Given the description of an element on the screen output the (x, y) to click on. 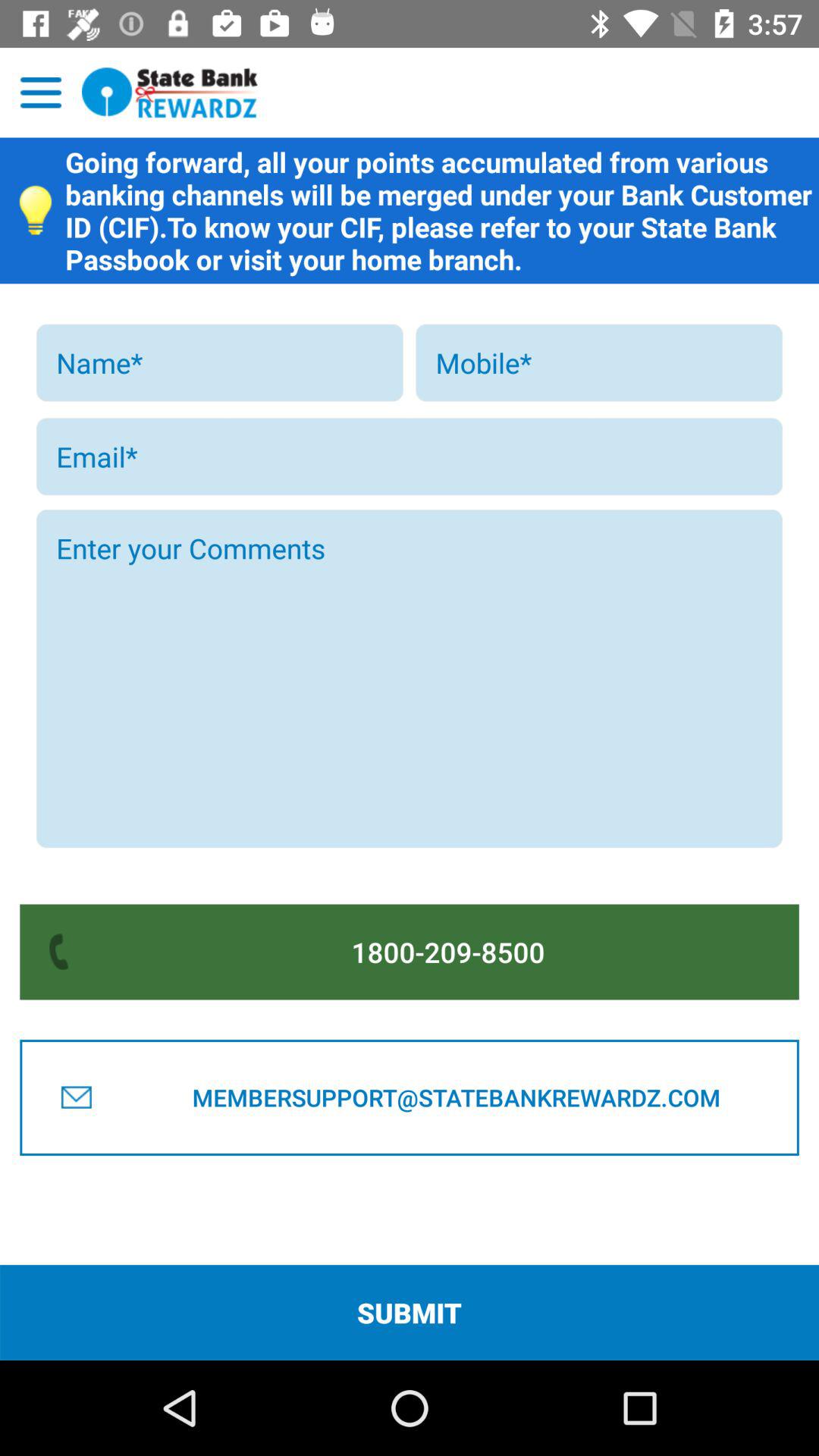
type email bar (409, 456)
